Given the description of an element on the screen output the (x, y) to click on. 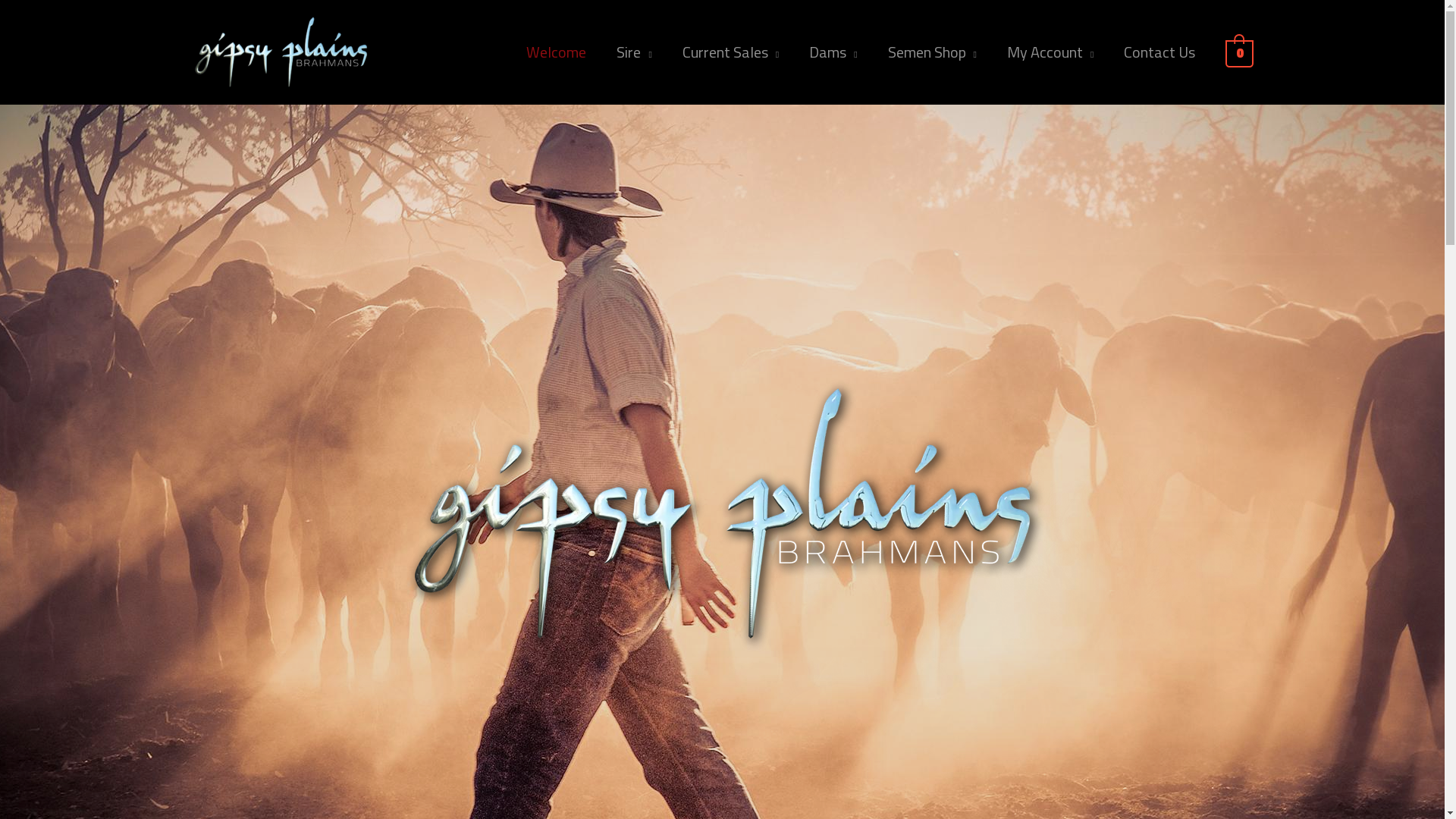
gipsy-plains-main-logo-dropshadow_@1x Element type: hover (721, 513)
Sire Element type: text (633, 51)
Contact Us Element type: text (1159, 51)
Semen Shop Element type: text (931, 51)
Dams Element type: text (832, 51)
Current Sales Element type: text (730, 51)
0 Element type: text (1238, 51)
Welcome Element type: text (556, 51)
My Account Element type: text (1049, 51)
